Given the description of an element on the screen output the (x, y) to click on. 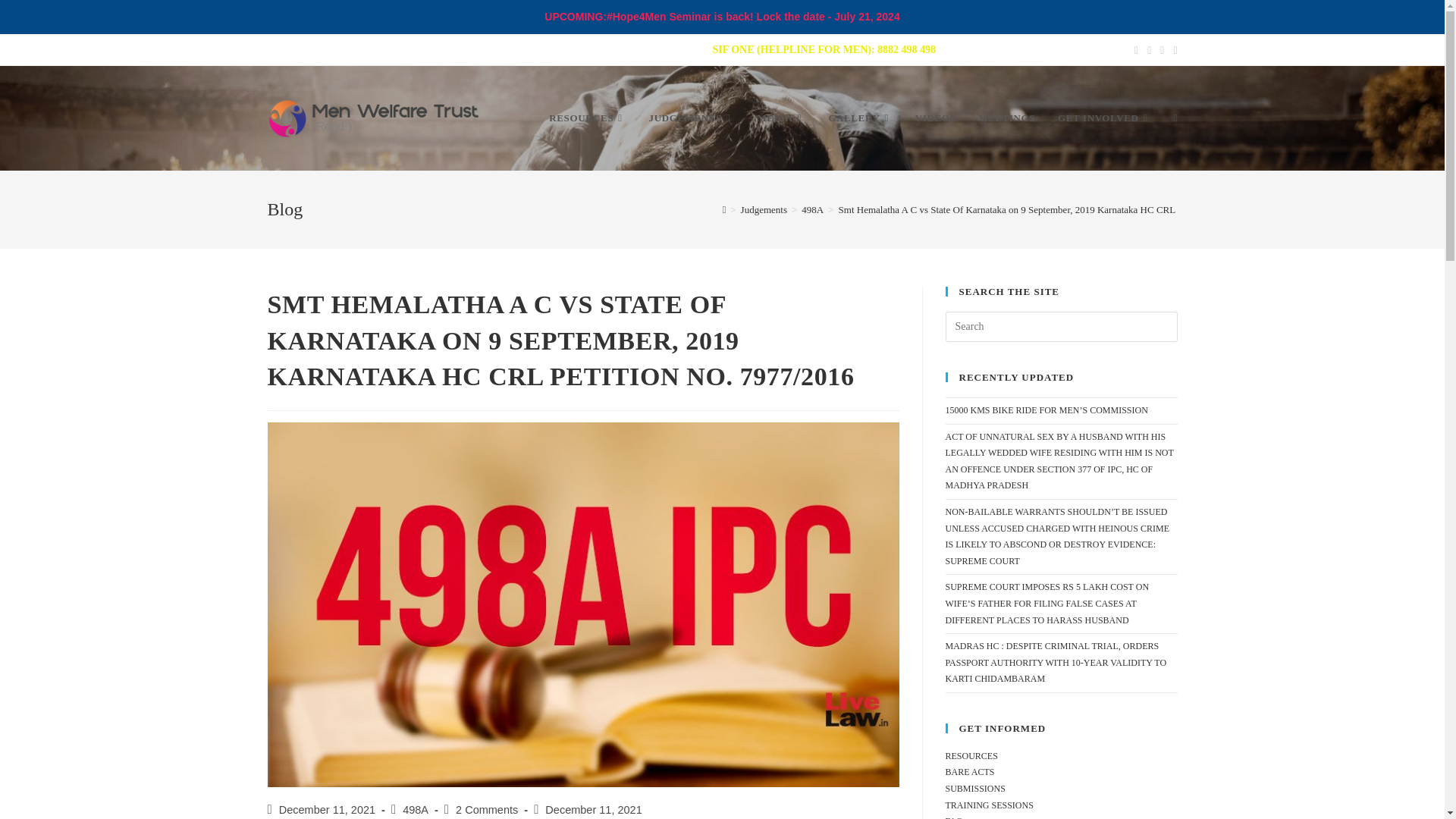
BLOGS (547, 49)
HOME (282, 49)
CONTACT US (660, 49)
GALLERY (859, 118)
ARCHIVES (405, 49)
LEGAL (596, 49)
RESOURCES (587, 118)
ALLIED NGOS (481, 49)
ABOUT US (339, 49)
JUDGEMENTS (691, 118)
